Given the description of an element on the screen output the (x, y) to click on. 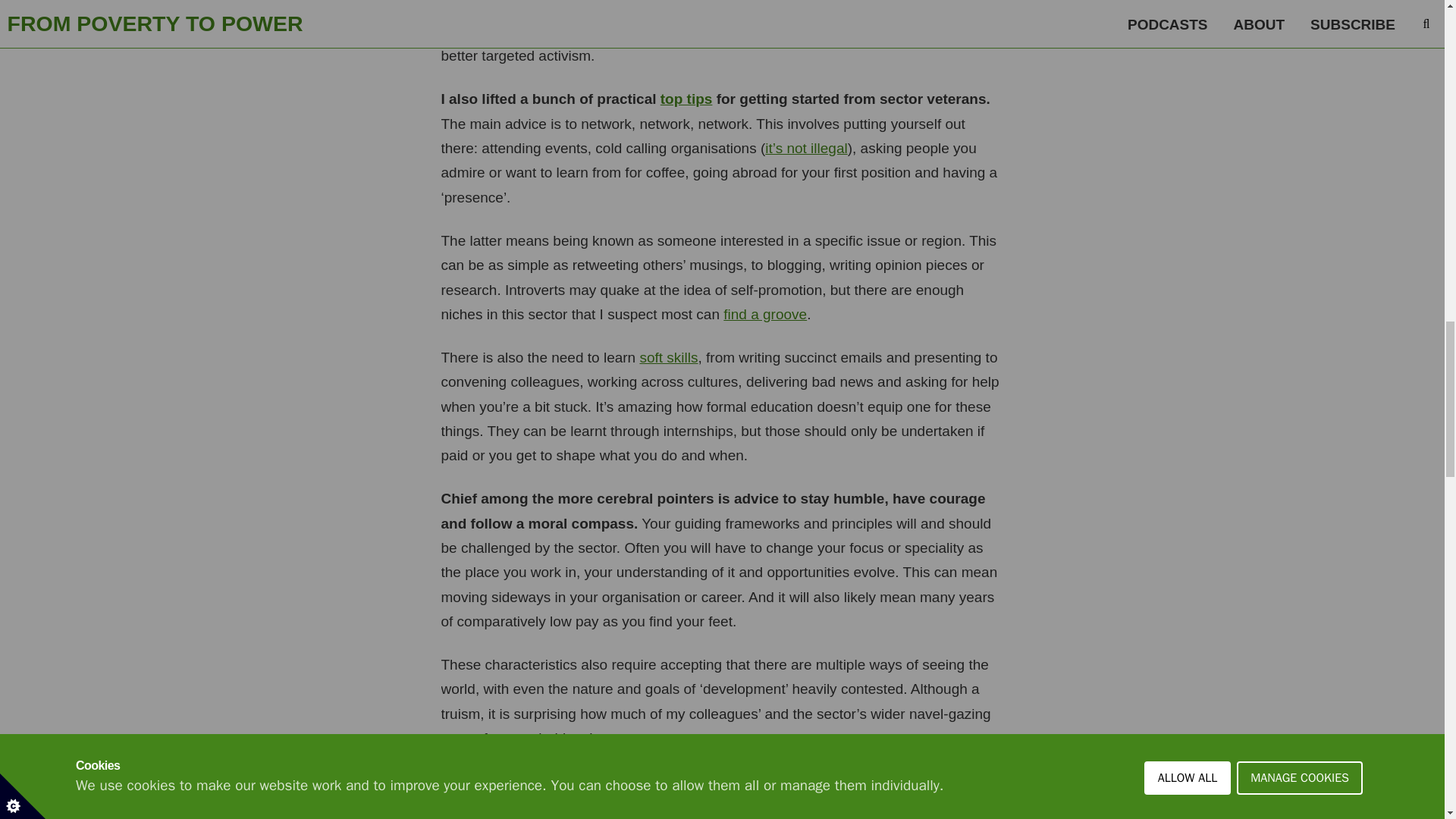
find a groove (764, 314)
top tips (687, 98)
soft skills (668, 357)
